Given the description of an element on the screen output the (x, y) to click on. 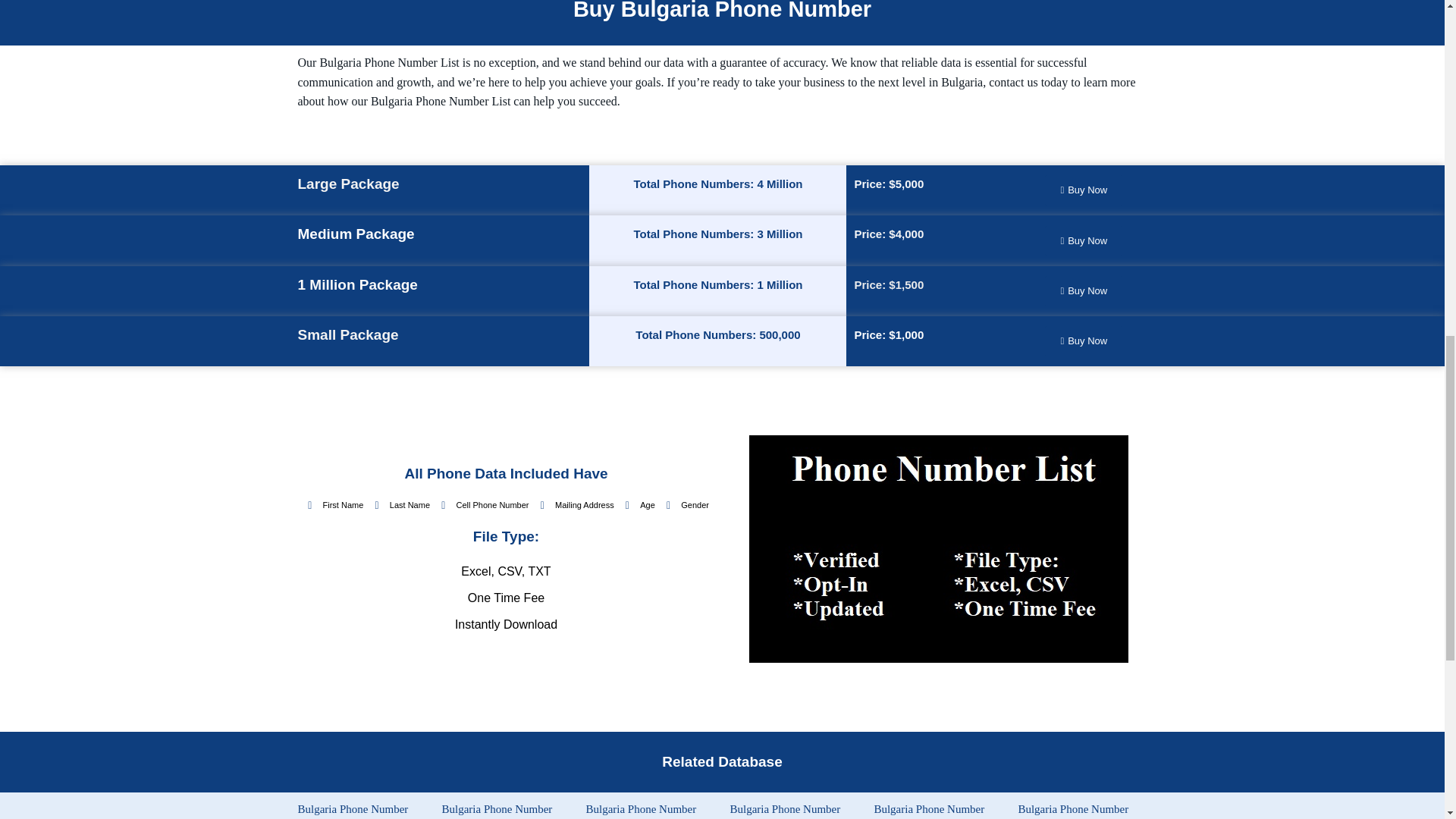
Bulgaria Phone Number (1072, 808)
Buy Now (1083, 291)
Buy Now (1083, 340)
Bulgaria Phone Number (784, 808)
Bulgaria Phone Number (496, 808)
Bulgaria Phone Number (352, 808)
Bulgaria Phone Number (640, 808)
Buy Now (1083, 190)
Buy Now (1083, 241)
Bulgaria Phone Number (928, 808)
